Given the description of an element on the screen output the (x, y) to click on. 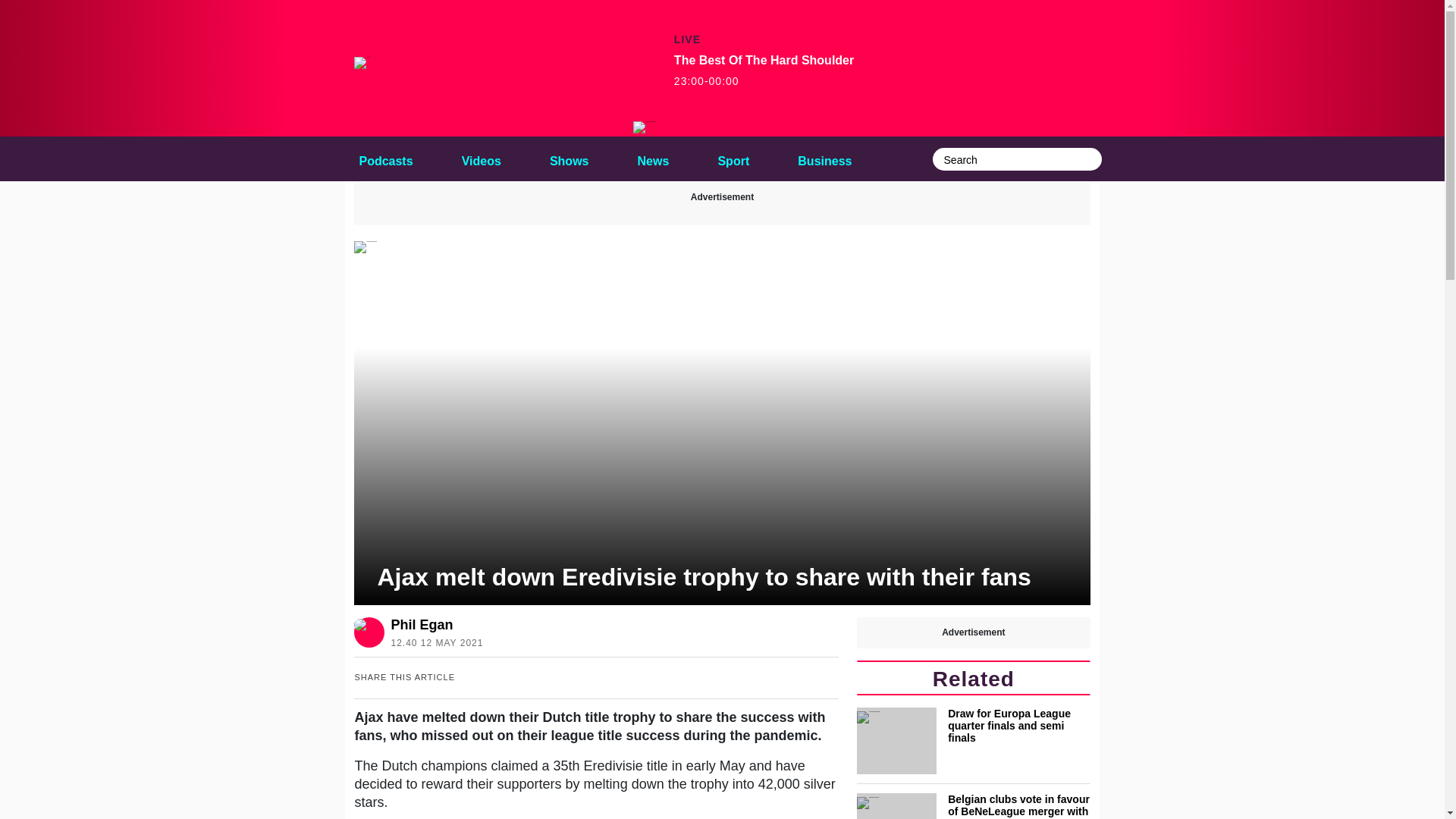
Shows (569, 158)
Sport (733, 158)
Business (824, 158)
Phil Egan (433, 624)
The Best Of The Hard Shoulder (644, 127)
Sport (733, 158)
Podcasts (384, 158)
Videos (481, 158)
Podcasts (384, 158)
